Given the description of an element on the screen output the (x, y) to click on. 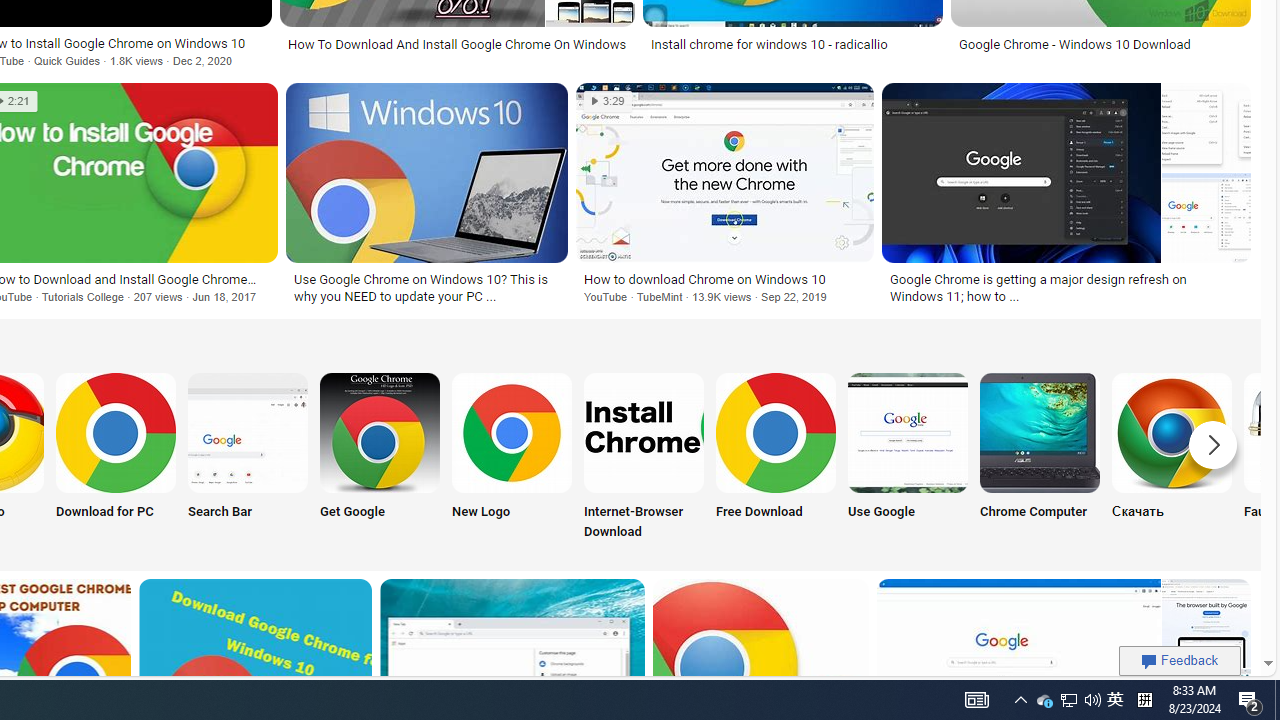
Chrome Free Download Free Download (775, 458)
New Logo (511, 457)
Chrome Download for PC Download for PC (116, 458)
Chrome Internet Browser Download (643, 432)
